Given the description of an element on the screen output the (x, y) to click on. 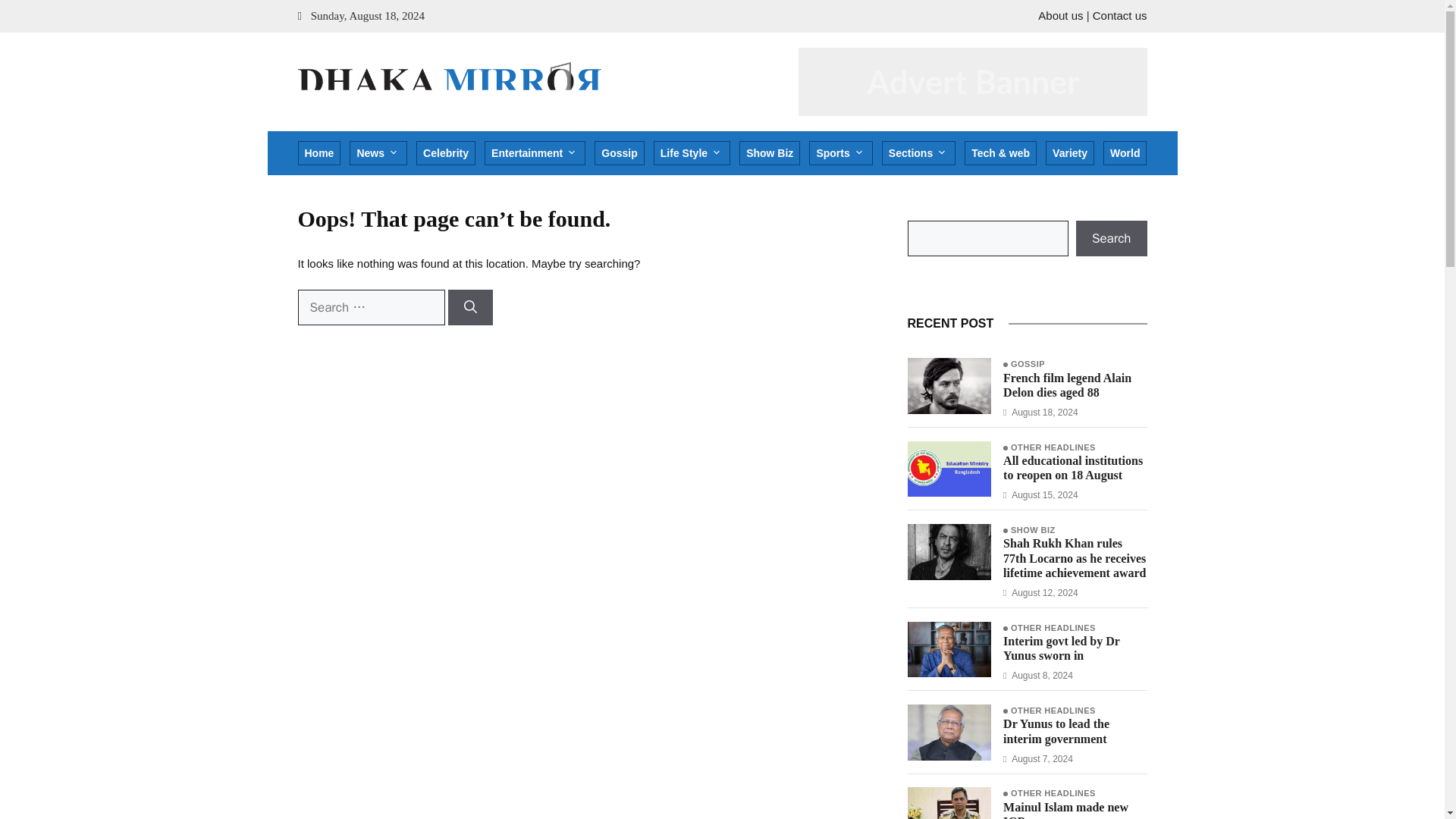
Search for: (370, 307)
Sports (840, 152)
News (378, 152)
About us (1060, 15)
Entertainment (534, 152)
Home (318, 152)
Contact us (1120, 15)
Celebrity (446, 152)
Show Biz (769, 152)
Life Style (691, 152)
